Given the description of an element on the screen output the (x, y) to click on. 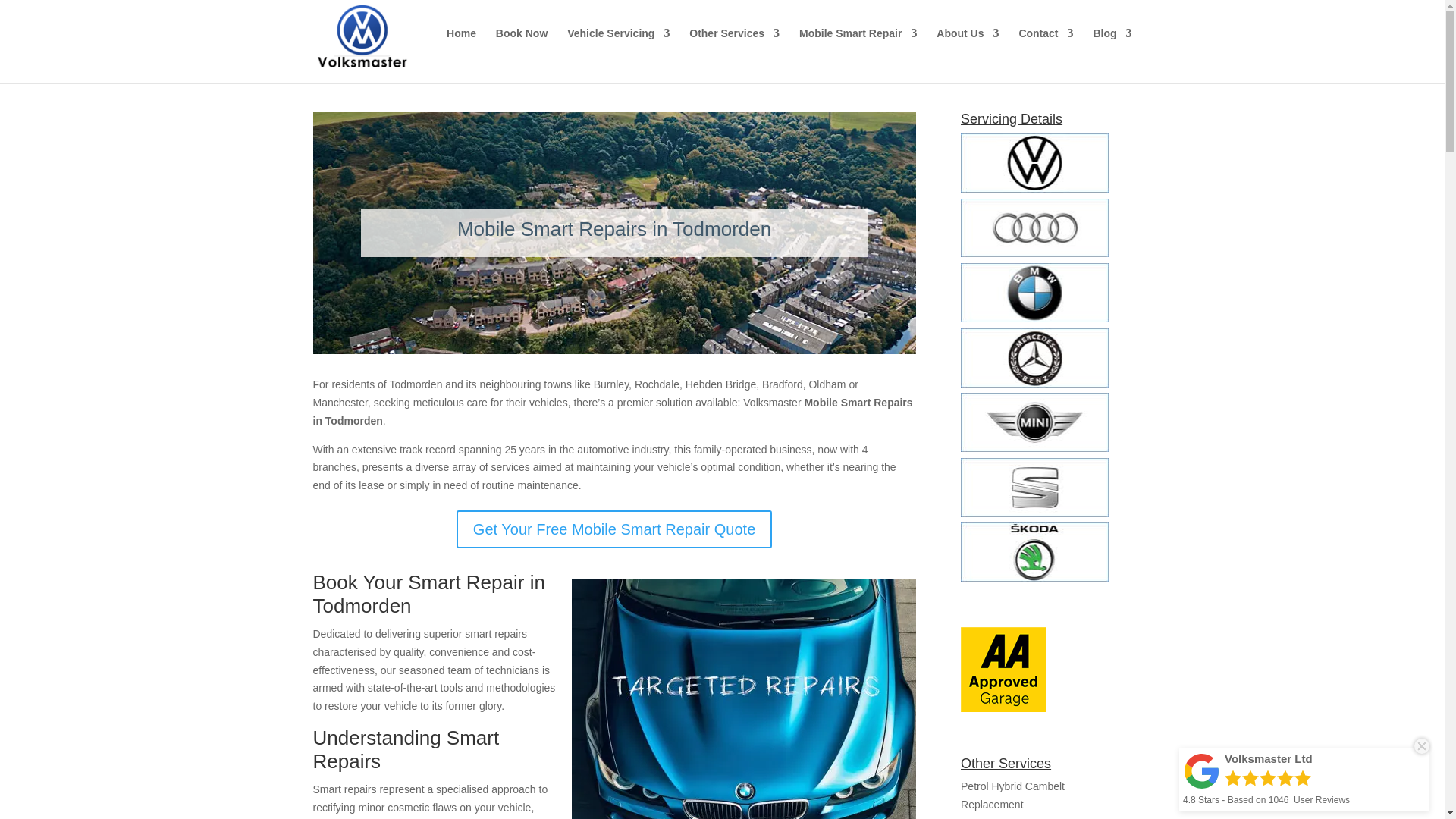
Book Your Service, Repair Or MOT Now (521, 45)
Other Services (733, 45)
Vehicle Servicing (618, 45)
Vehicle Servicing Details And Prices (618, 45)
Book Now (521, 45)
Mobile Smart Repair (858, 45)
